Given the description of an element on the screen output the (x, y) to click on. 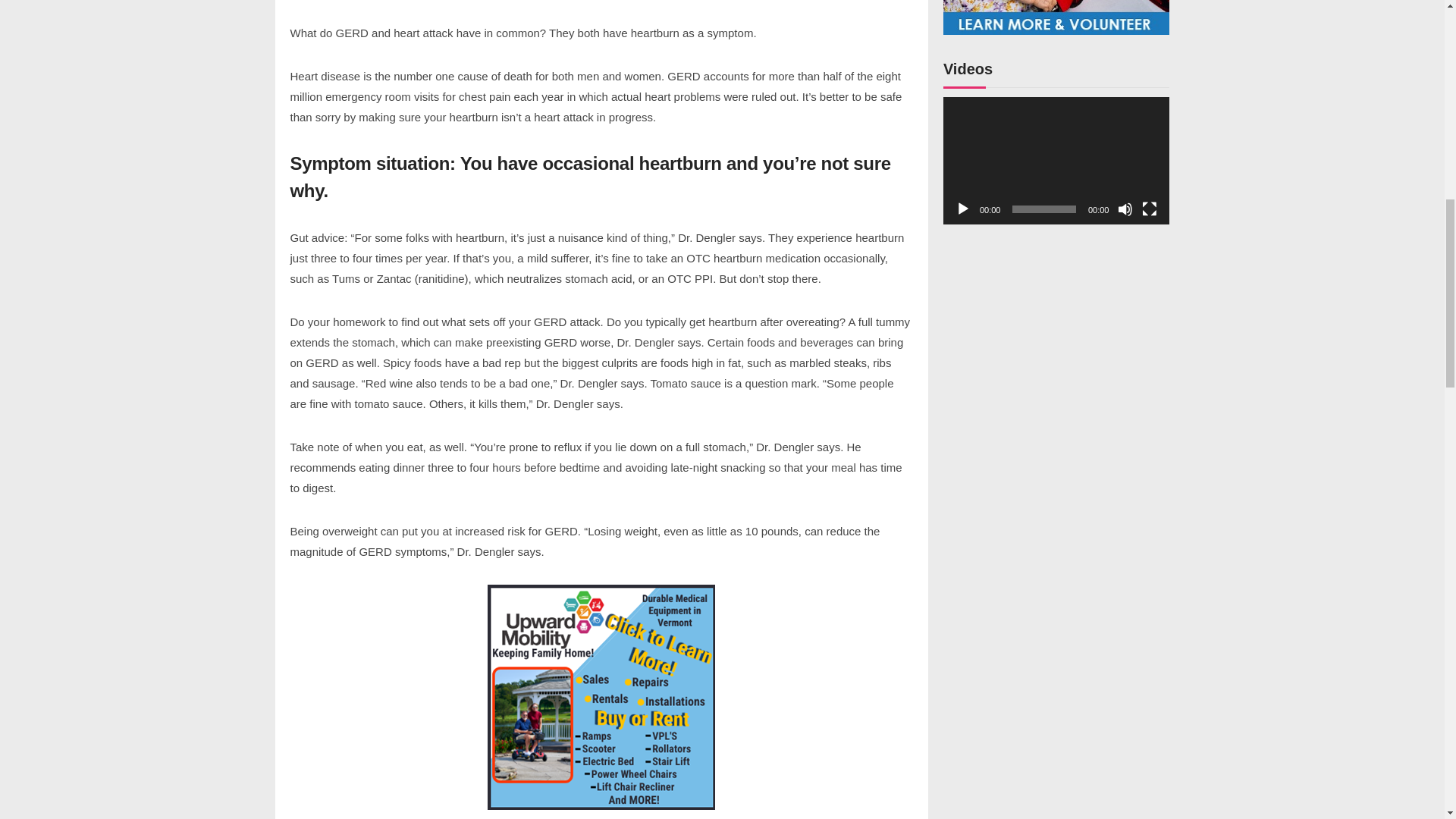
Mute (1125, 209)
Play (963, 209)
Fullscreen (1149, 209)
